Given the description of an element on the screen output the (x, y) to click on. 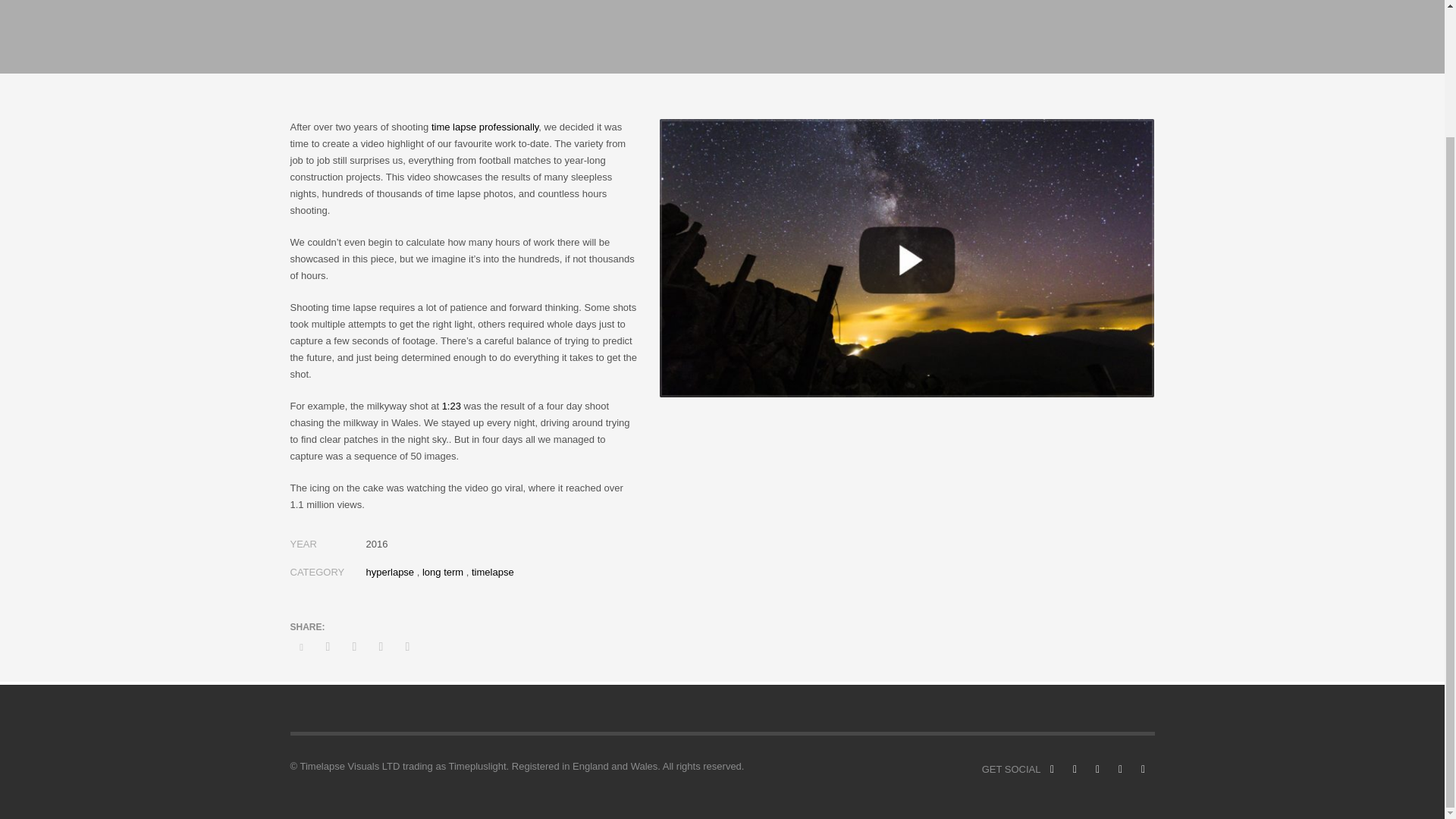
1:23 (451, 405)
SHARE ON FACEBOOK (328, 646)
time lapse professionally (484, 126)
SHARE ON GPLUS (353, 646)
SHARE ON MAIL (407, 646)
Follow our tweets! (1074, 769)
SHARE ON PINTEREST (381, 646)
Like us on Facebook! (1051, 769)
long term (442, 572)
Instagram (1097, 769)
hyperlapse (389, 572)
SHARE ON TWITTER (301, 647)
timelapse (492, 572)
